Given the description of an element on the screen output the (x, y) to click on. 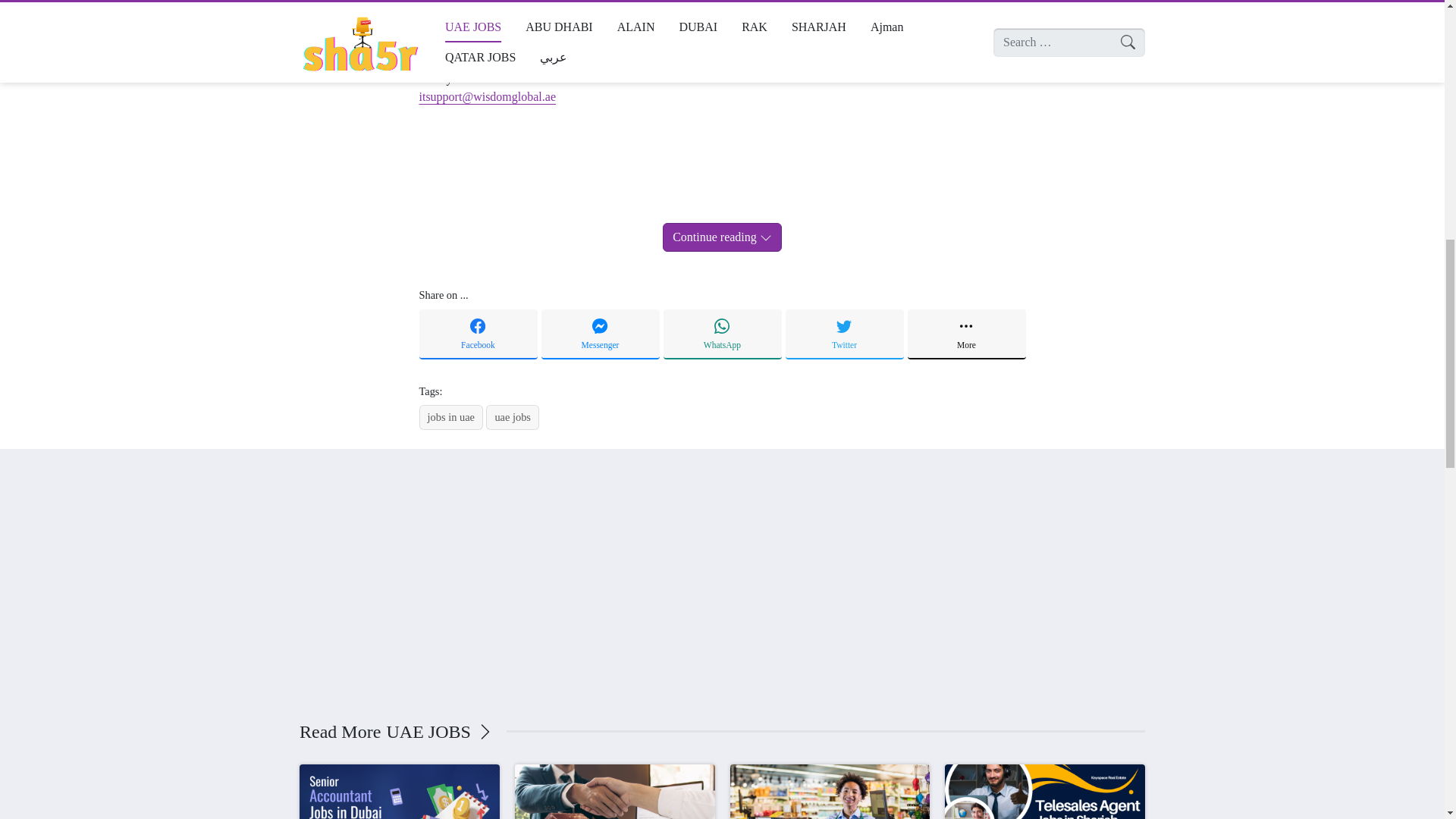
Facebook (478, 334)
WhatsApp (721, 334)
Continue reading (721, 236)
Messenger (600, 334)
